Given the description of an element on the screen output the (x, y) to click on. 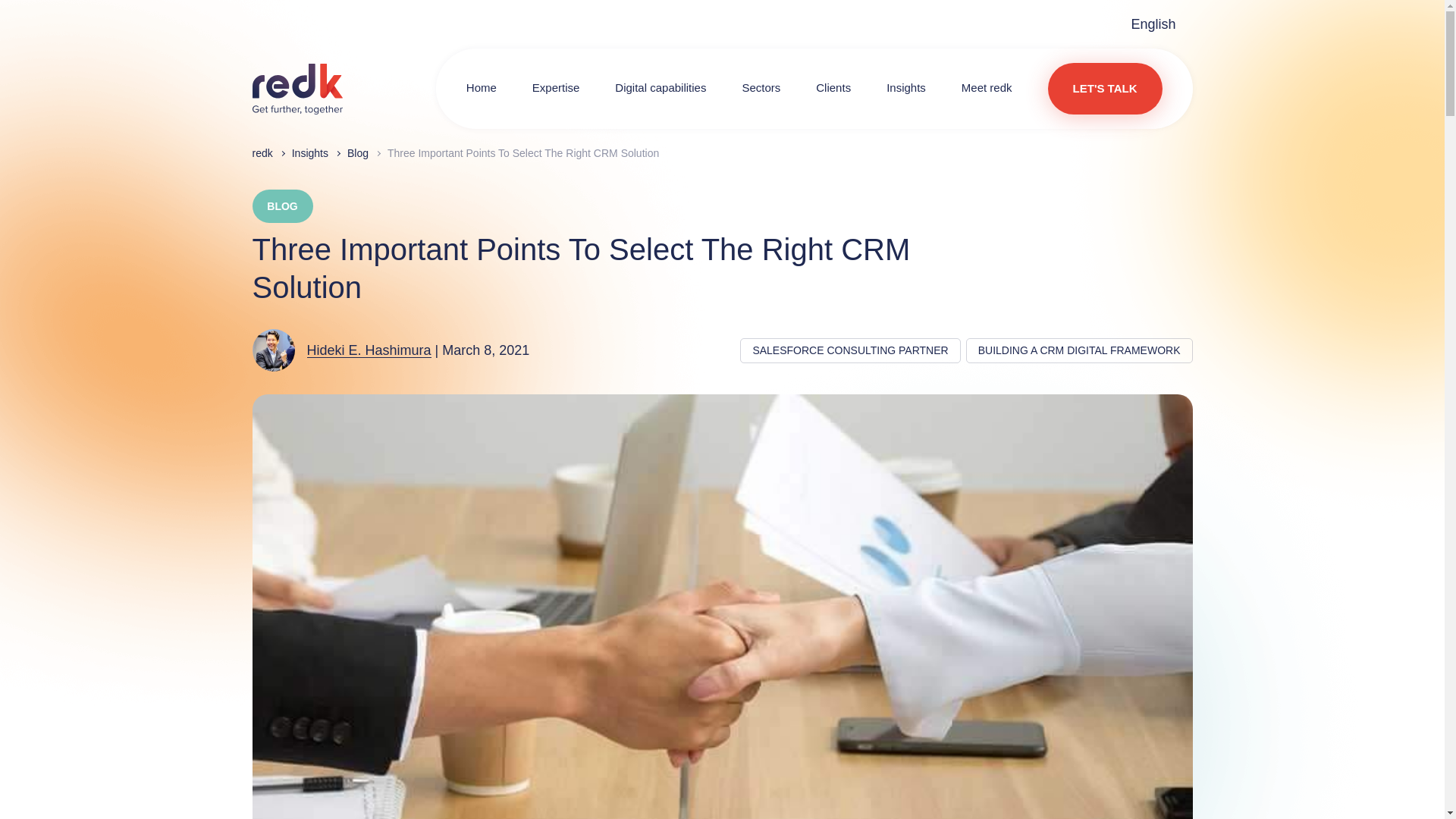
redk (296, 88)
Salesforce Consulting Partner (850, 350)
Search (1113, 88)
Go to the Blog Category archives. (357, 152)
Digital capabilities (660, 87)
Hideki E. Hashimura (367, 350)
Building a CRM Digital Framework (1079, 350)
Go to Insights. (310, 152)
Hideki E. Hashimura (278, 350)
Go to redk. (261, 152)
